Given the description of an element on the screen output the (x, y) to click on. 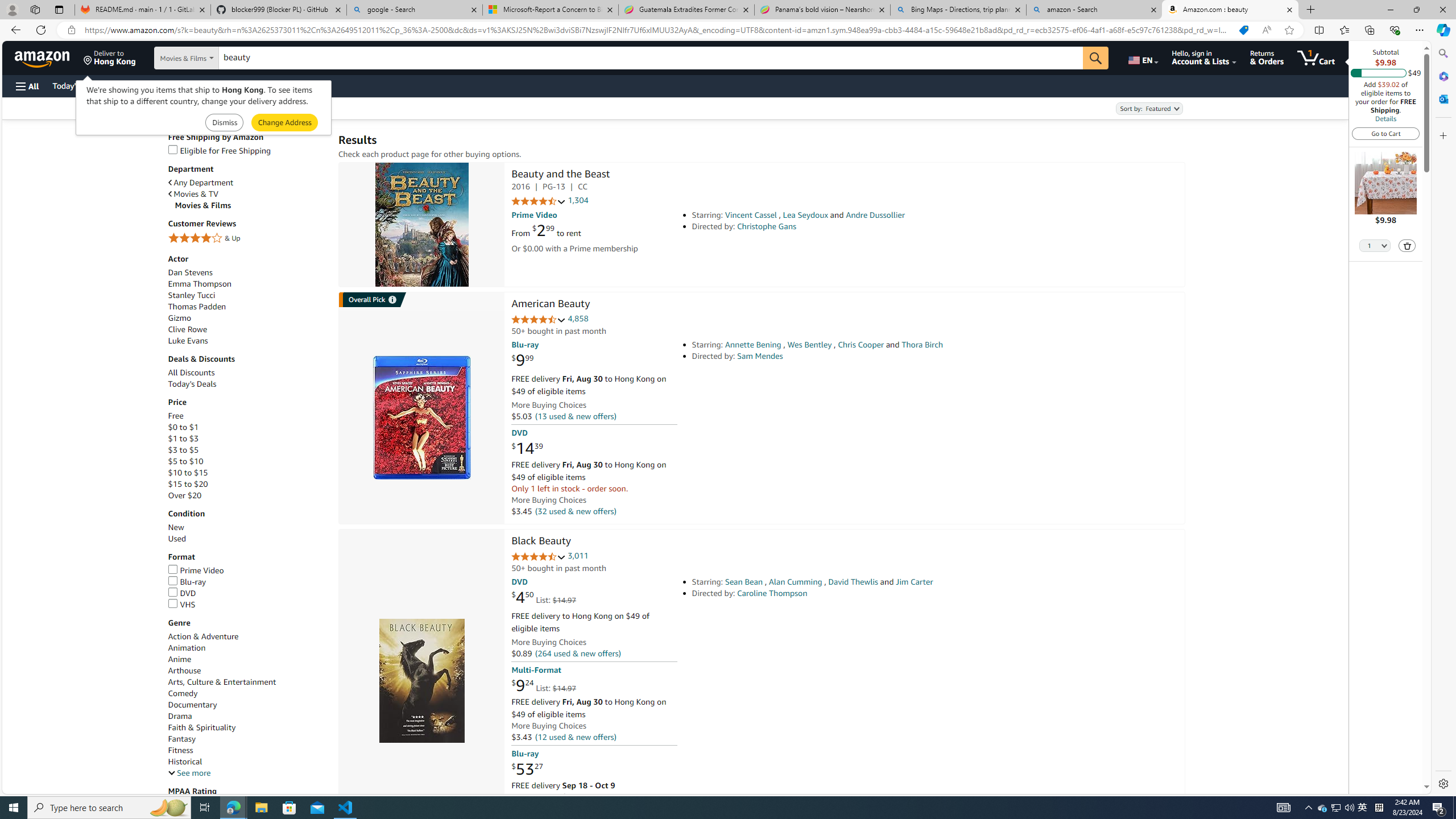
$3 to $5 (247, 450)
New (247, 527)
Drama (179, 715)
Any Department (247, 182)
Anime (247, 659)
Eligible for Free Shipping (218, 150)
3,011 (577, 556)
Historical (184, 761)
Blu-ray (186, 581)
Lea Seydoux (805, 214)
Deliver to Hong Kong (109, 57)
Open Menu (26, 86)
Gift Cards (251, 85)
